Given the description of an element on the screen output the (x, y) to click on. 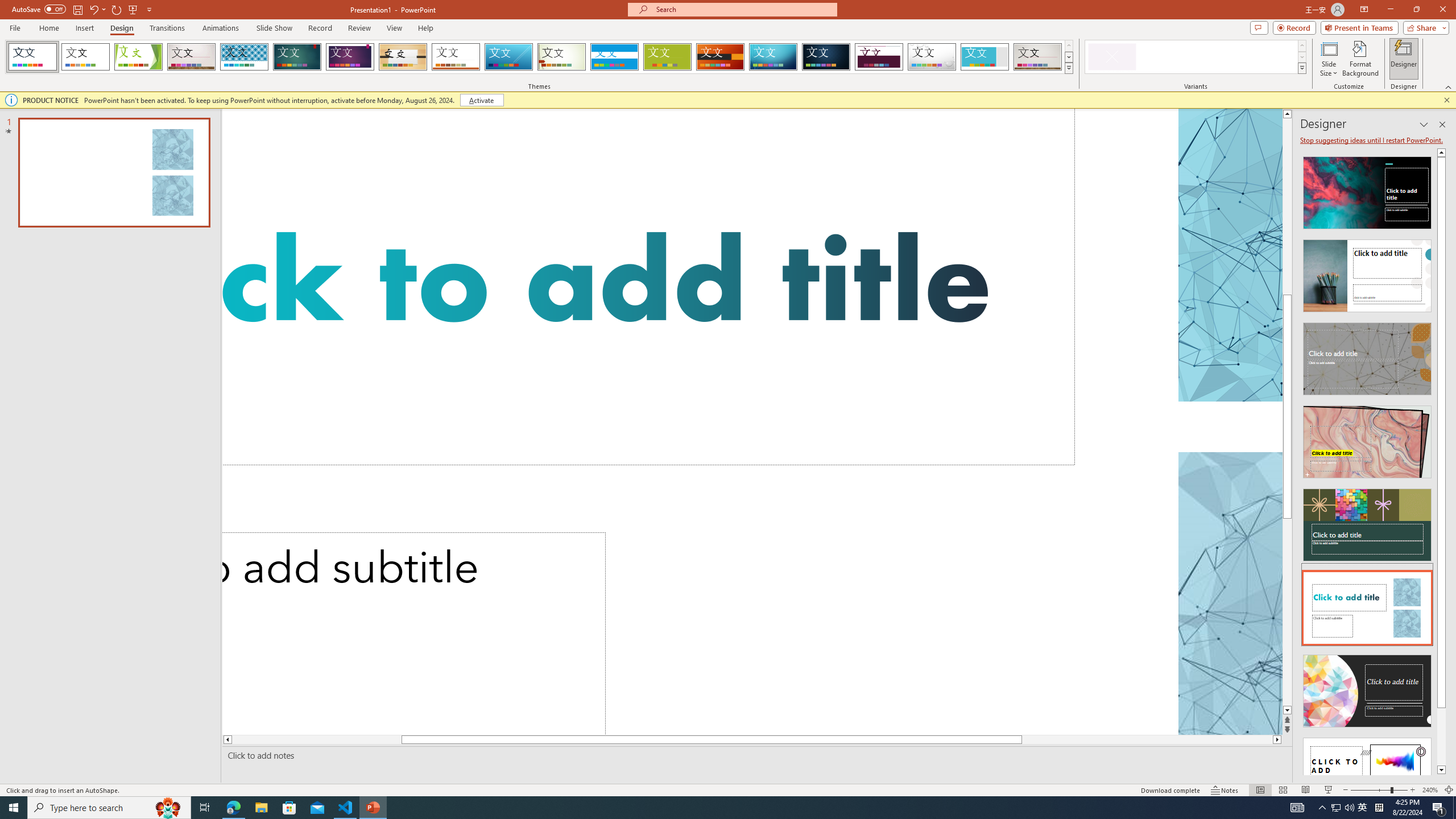
Design Idea (1366, 770)
Variants (1301, 67)
Droplet (931, 56)
Dividend (879, 56)
Wisp (561, 56)
Format Background (1360, 58)
